Given the description of an element on the screen output the (x, y) to click on. 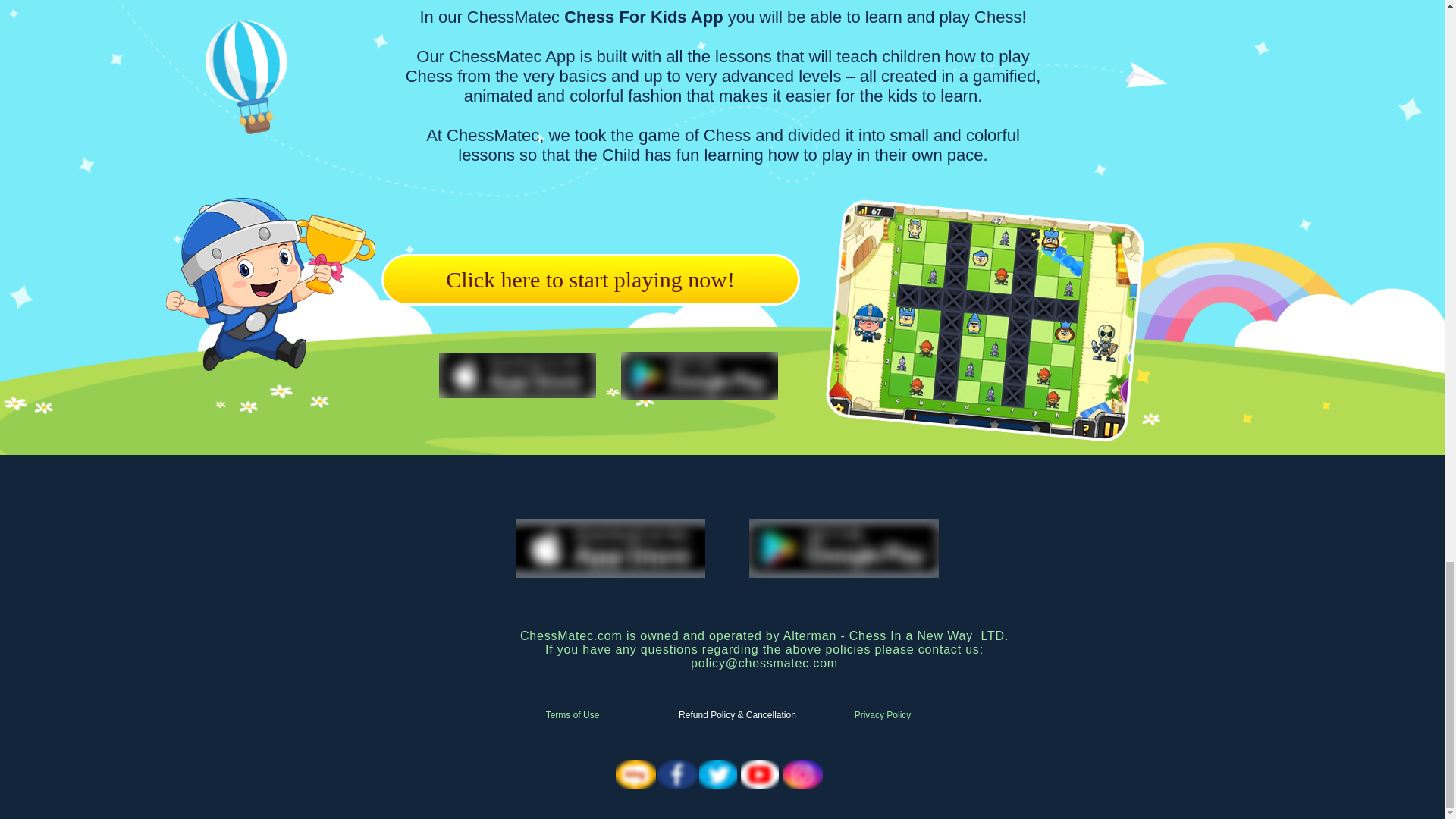
Privacy Policy (882, 715)
Terms of Use (571, 715)
Click here to start playing now! (589, 279)
